Given the description of an element on the screen output the (x, y) to click on. 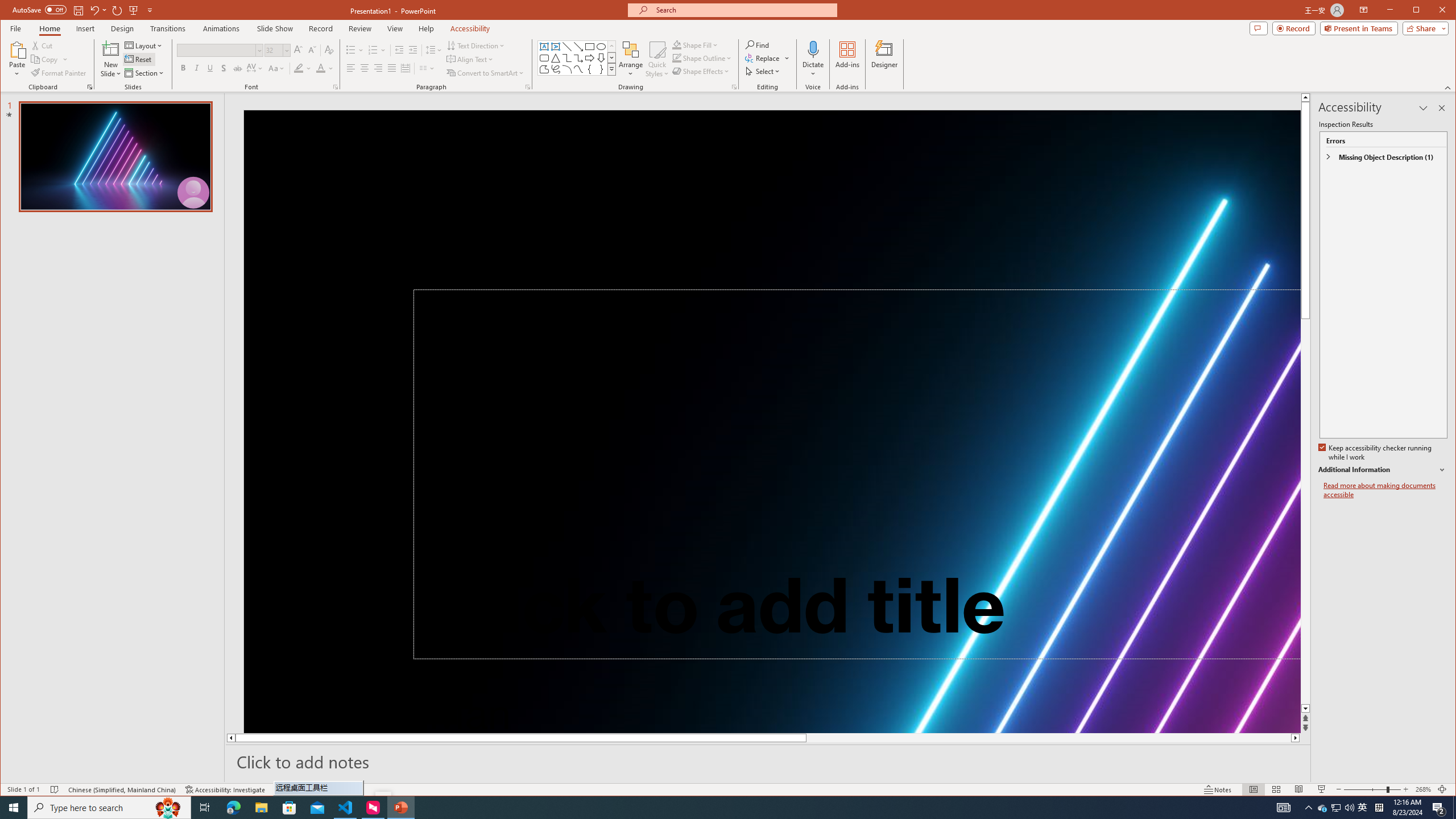
Section (144, 72)
Underline (209, 68)
Line Spacing (433, 49)
Font Color Red (320, 68)
Row Down (611, 57)
Strikethrough (237, 68)
Rectangle: Rounded Corners (544, 57)
Tray Input Indicator - Chinese (Simplified, China) (1378, 807)
Bold (182, 68)
AutomationID: 4105 (1283, 807)
Visual Studio Code - 1 running window (345, 807)
